Given the description of an element on the screen output the (x, y) to click on. 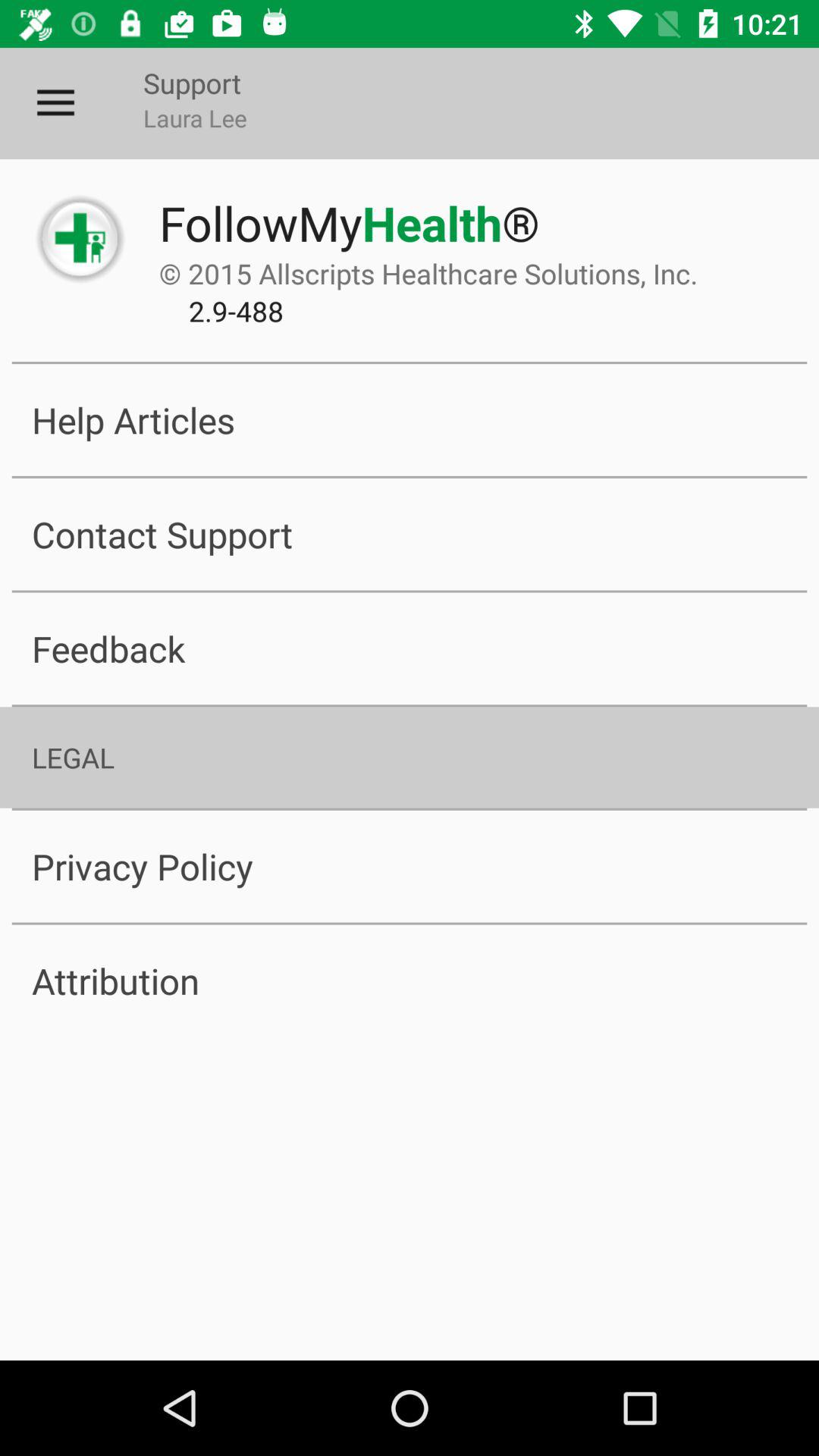
scroll until legal icon (409, 757)
